Given the description of an element on the screen output the (x, y) to click on. 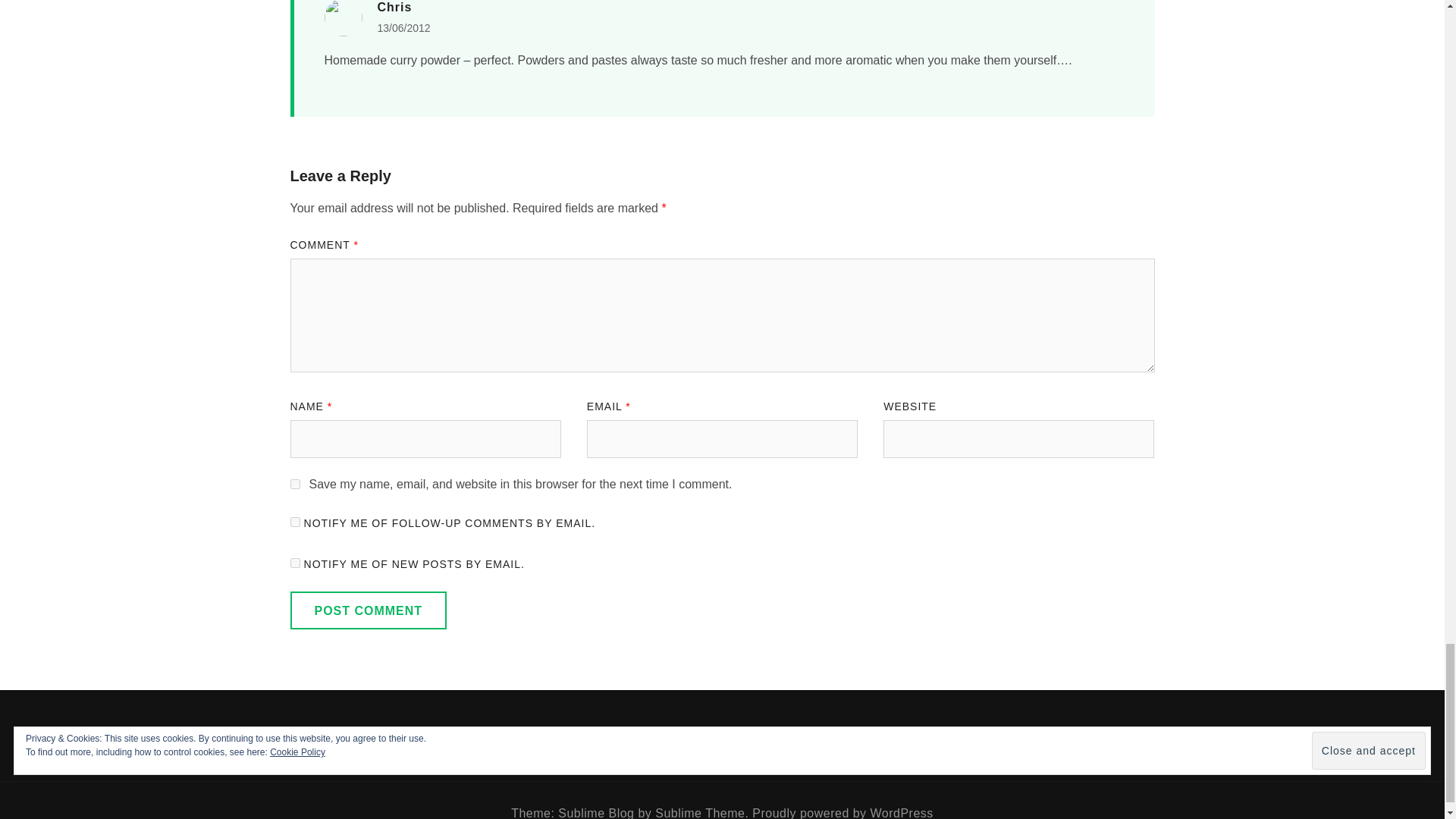
Post Comment (367, 610)
Sublime Theme (699, 812)
Post Comment (367, 610)
subscribe (294, 521)
Proudly powered by WordPress (842, 812)
yes (294, 483)
subscribe (294, 562)
Chris (394, 6)
